Given the description of an element on the screen output the (x, y) to click on. 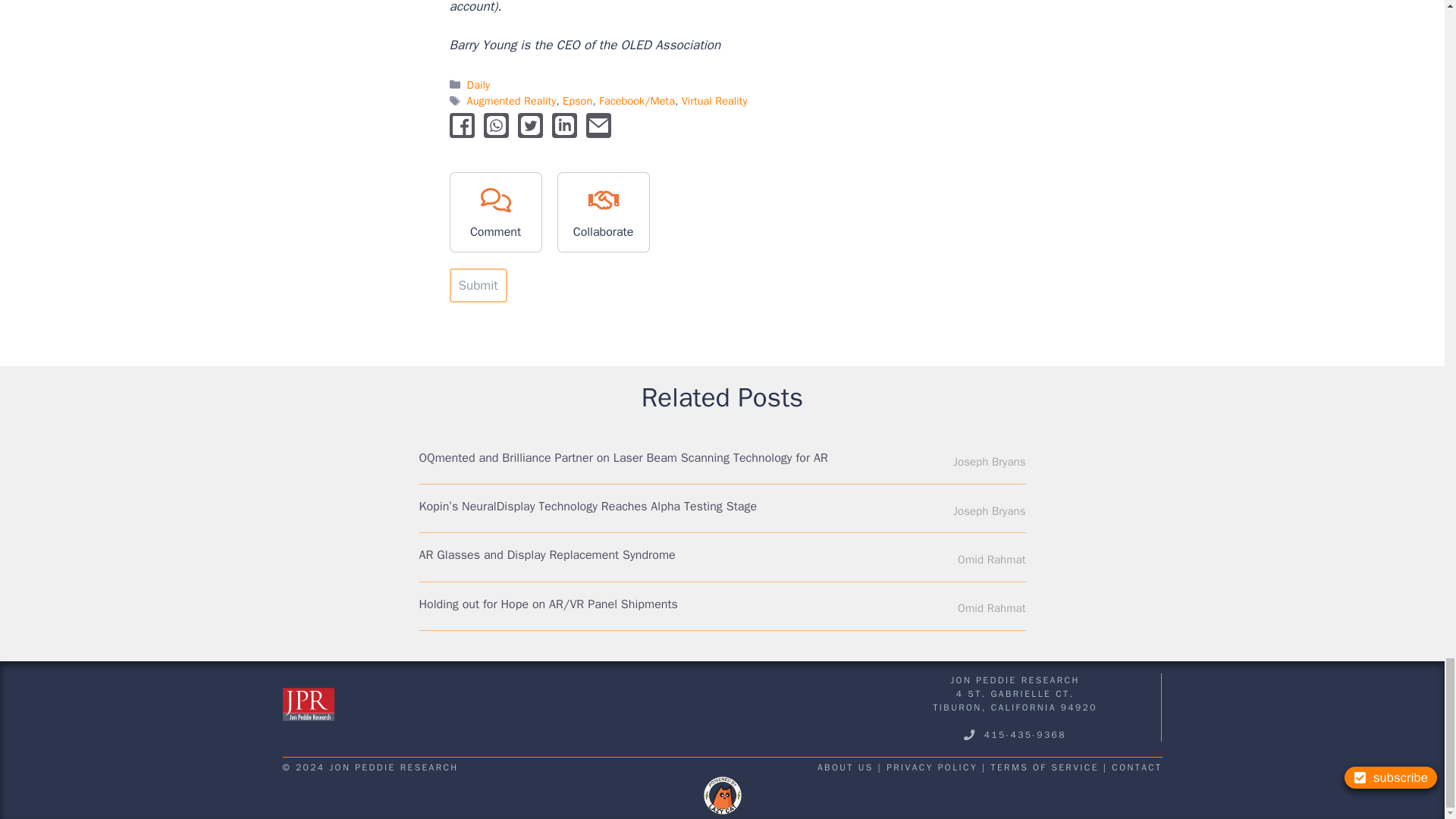
Virtual Reality (714, 100)
TERMS OF SERVICE (1045, 767)
Powered by Lazy Cat Media (722, 795)
PRIVACY POLICY (931, 767)
ABOUT US (844, 767)
AR Glasses and Display Replacement Syndrome (547, 554)
Submit (477, 285)
Epson (577, 100)
Daily (478, 84)
Augmented Reality (511, 100)
